Given the description of an element on the screen output the (x, y) to click on. 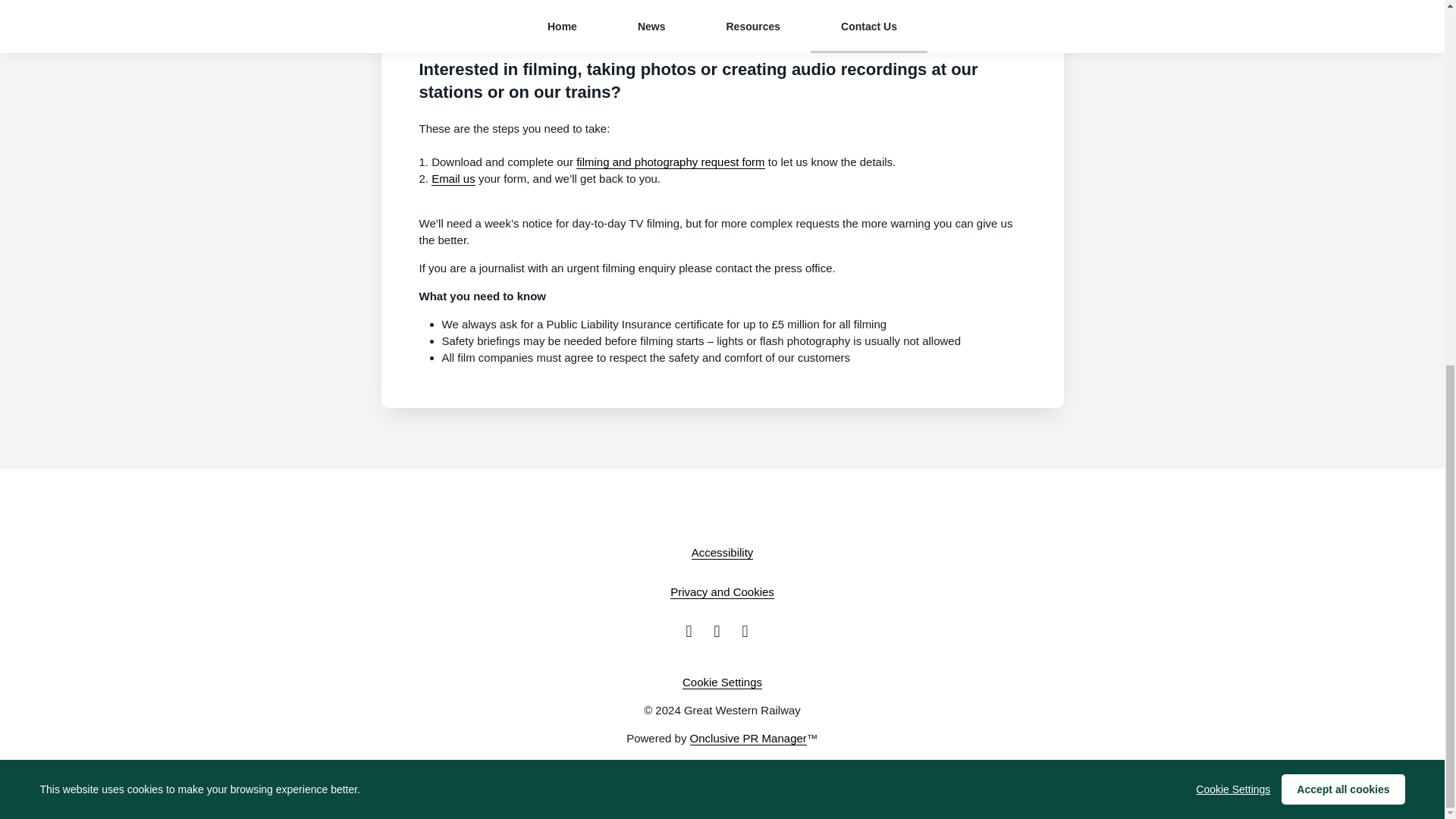
filming and photography request form (670, 161)
Cookie Settings (1232, 132)
Instagram (722, 631)
Email us (453, 178)
Cookie Settings (721, 682)
Accept all cookies (1343, 132)
Privacy and Cookies (721, 591)
Facebook (693, 631)
Accessibility (722, 552)
Privacy and Cookies (721, 591)
Accessibility (722, 552)
YouTube (749, 631)
Onclusive PR Manager (748, 738)
